Given the description of an element on the screen output the (x, y) to click on. 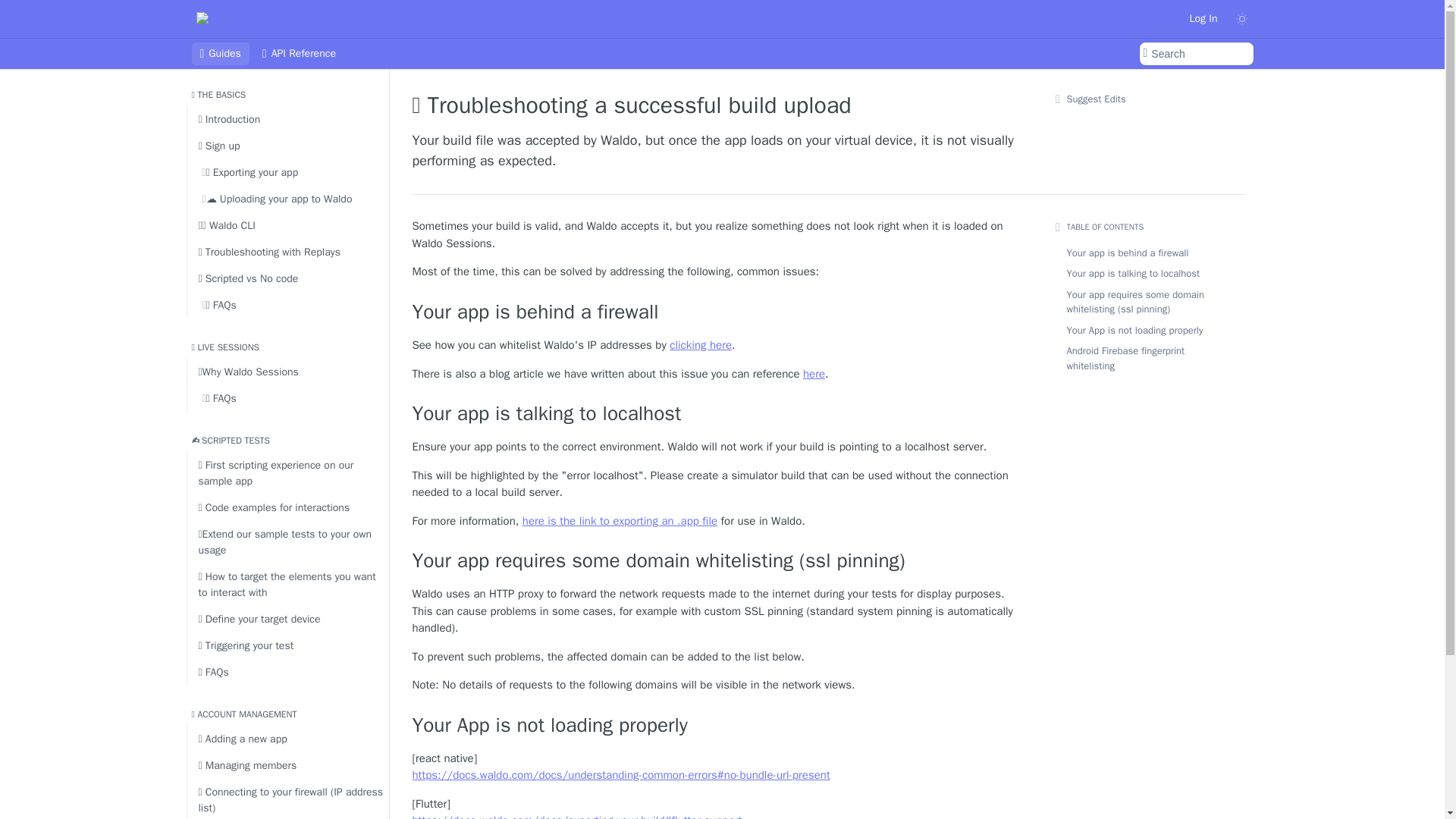
Guides (219, 53)
Log In (1202, 18)
Your App is not loading properly (715, 725)
API Reference (298, 53)
Search (1195, 53)
Your app is talking to localhost (715, 414)
Your app is behind a firewall (715, 312)
